Given the description of an element on the screen output the (x, y) to click on. 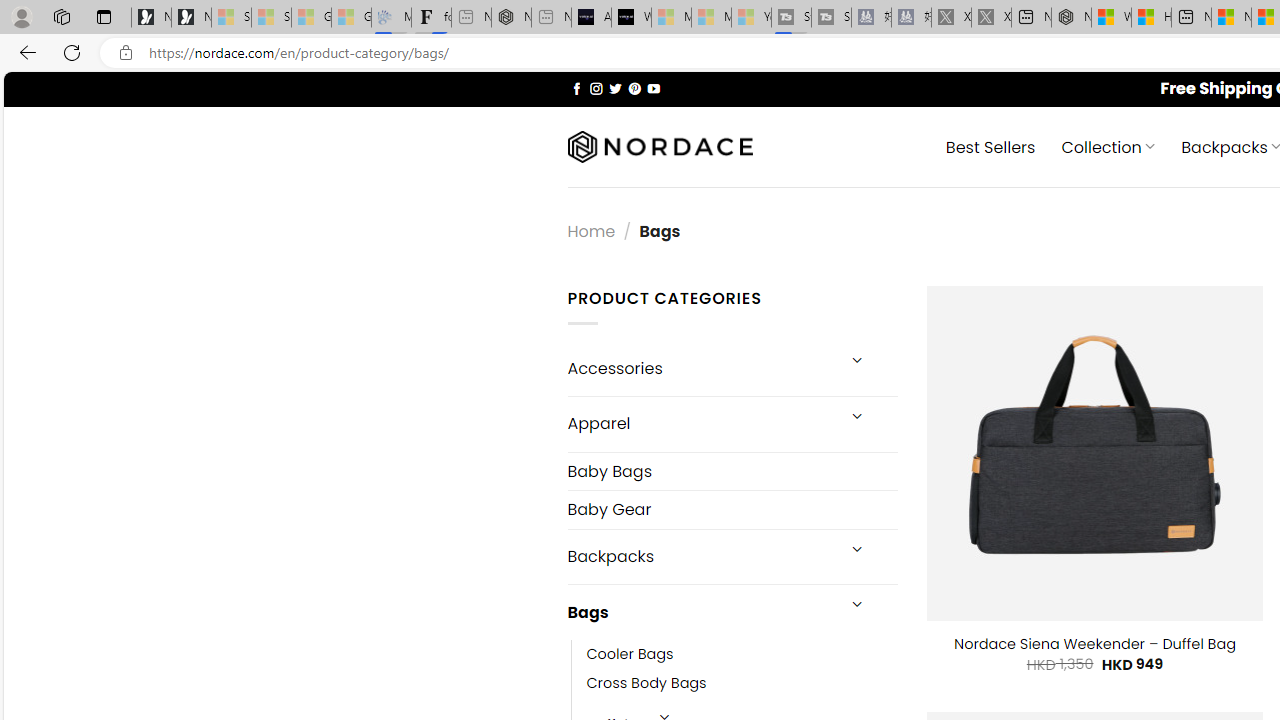
Apparel (700, 423)
  Best Sellers (989, 146)
Accessories (700, 368)
Microsoft Start - Sleeping (711, 17)
Follow on YouTube (653, 88)
Huge shark washes ashore at New York City beach | Watch (1151, 17)
